Given the description of an element on the screen output the (x, y) to click on. 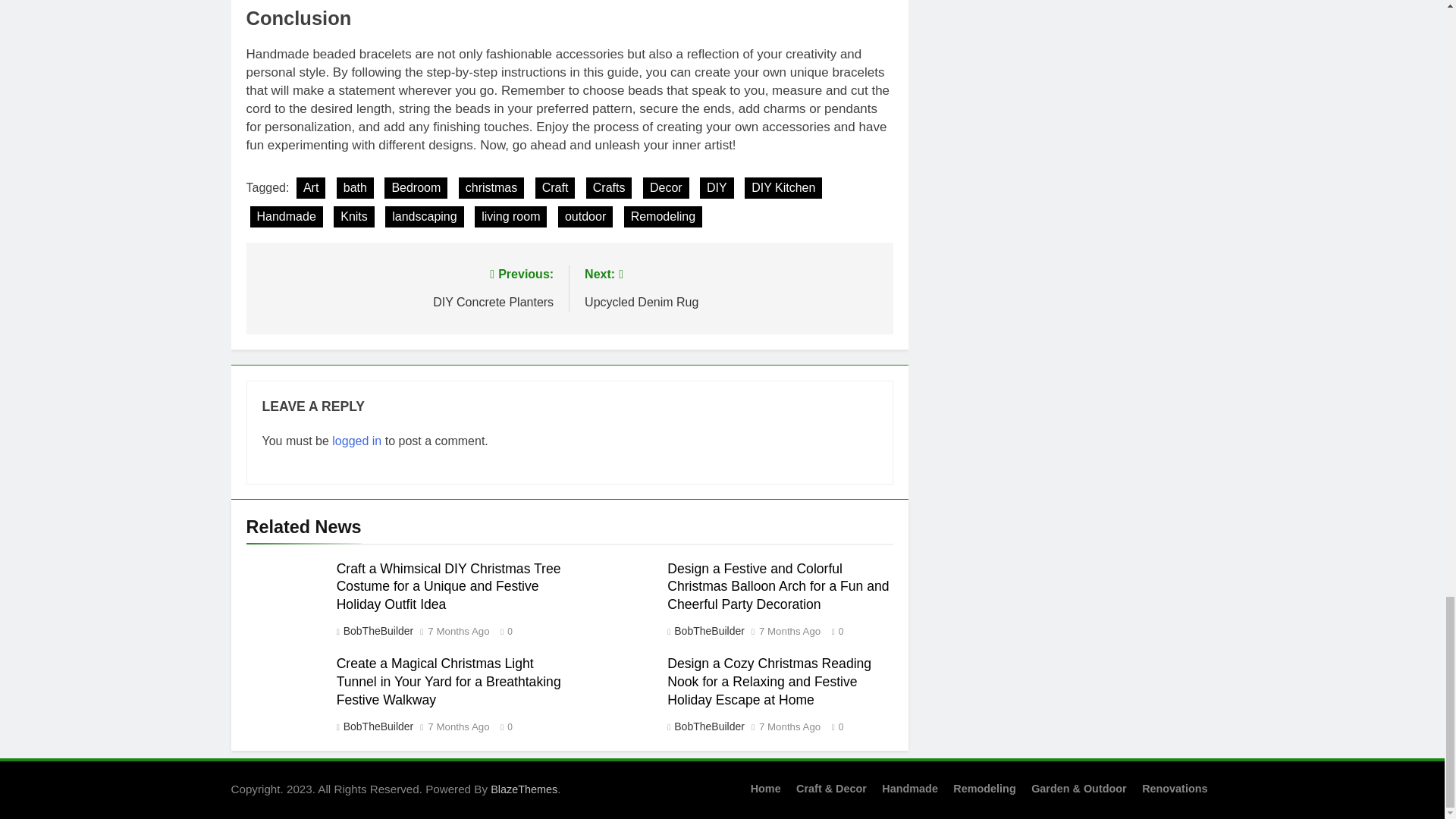
Art (310, 188)
